Given the description of an element on the screen output the (x, y) to click on. 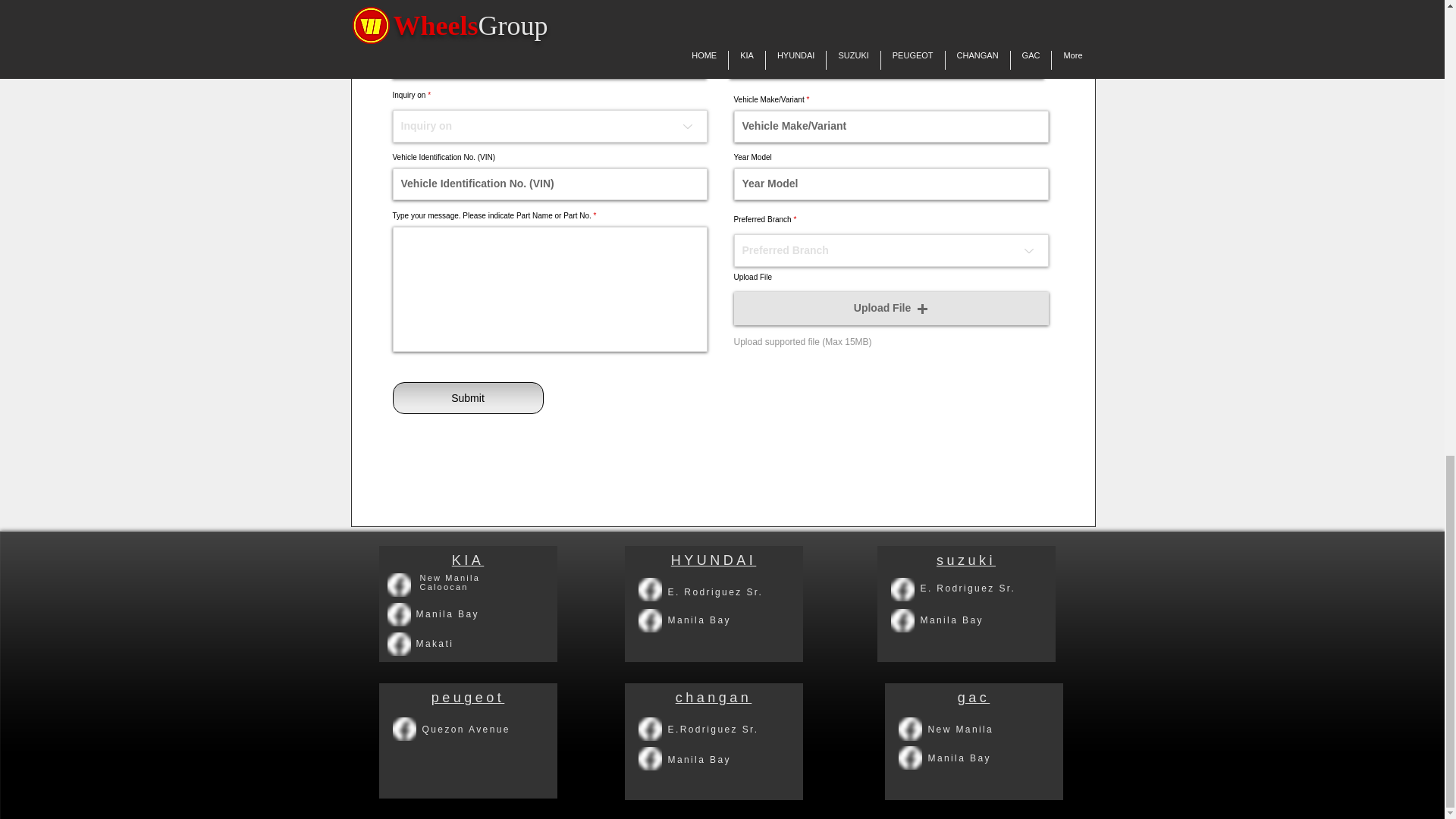
peugeot (467, 697)
gac (974, 697)
suzuki (965, 560)
KIA (467, 560)
Submit (468, 398)
changan (713, 697)
HYUNDAI (714, 560)
